Given the description of an element on the screen output the (x, y) to click on. 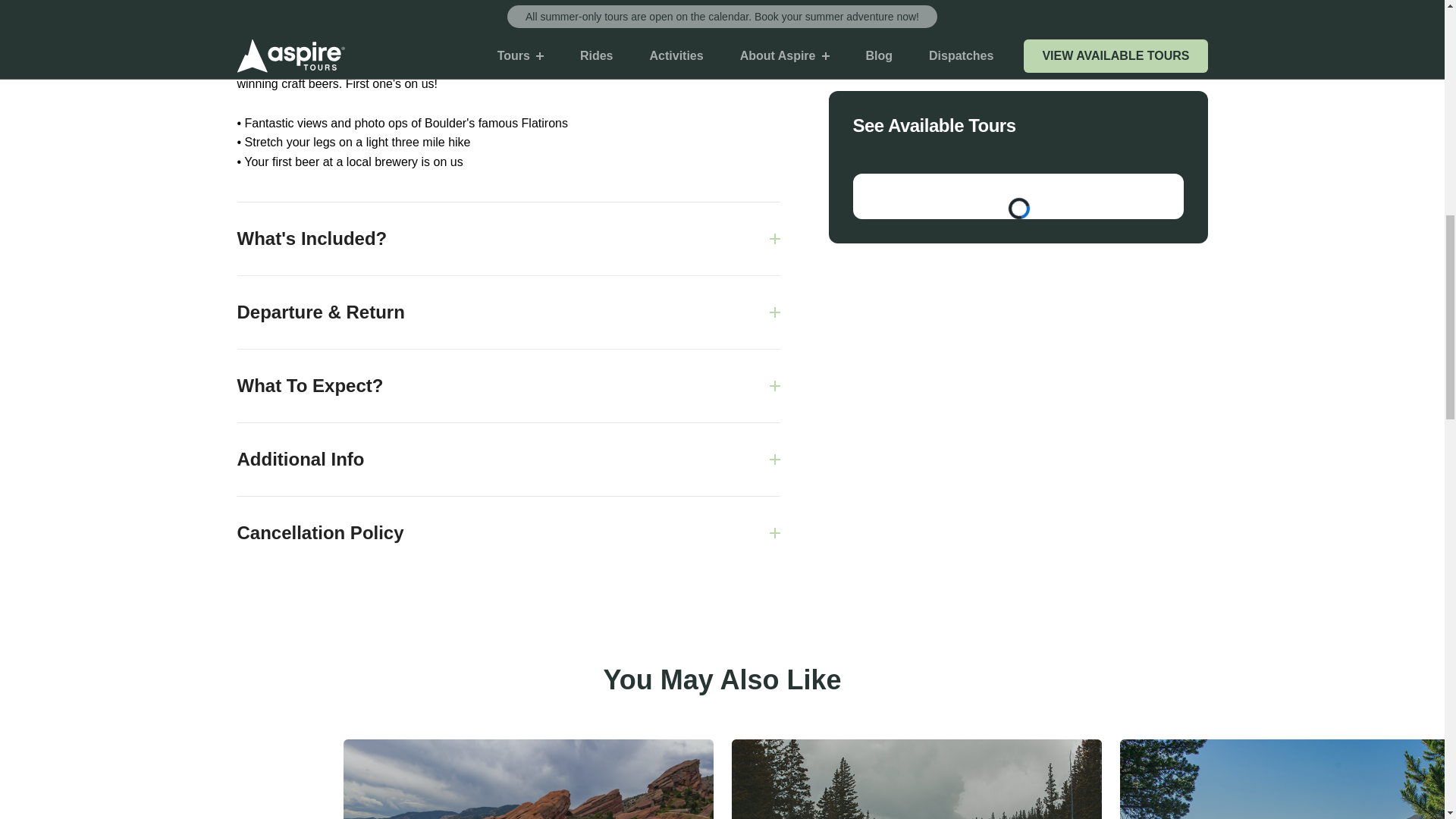
FareHarbor (1342, 64)
